Given the description of an element on the screen output the (x, y) to click on. 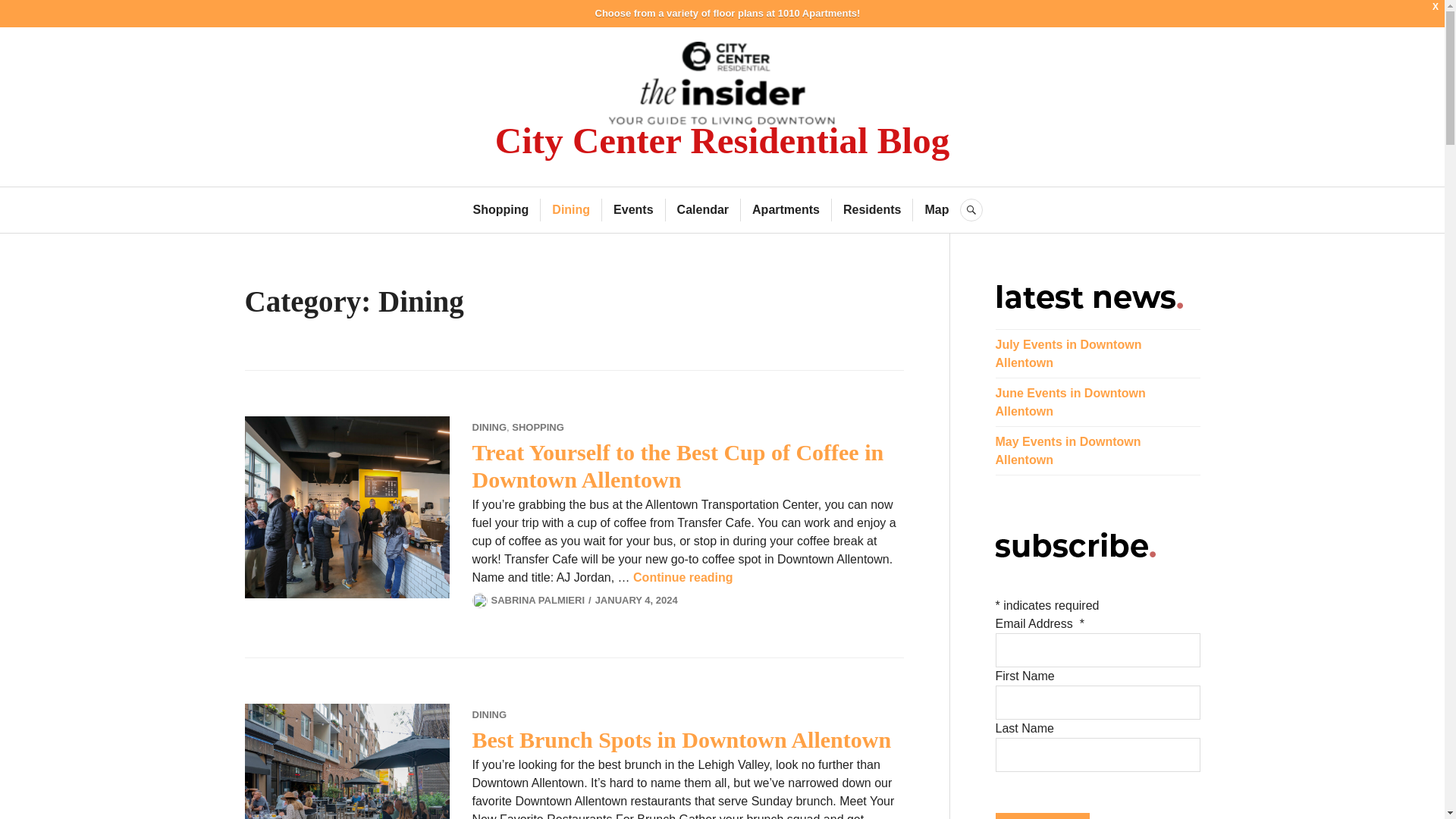
Subscribe (1041, 816)
Best Brunch Spots in Downtown Allentown (681, 739)
Dining (570, 210)
Events (632, 210)
SEARCH (970, 210)
SHOPPING (538, 427)
Map (936, 210)
SABRINA PALMIERI (538, 600)
Shopping (501, 210)
Residents (872, 210)
Apartments (785, 210)
DINING (488, 714)
JANUARY 4, 2024 (636, 600)
DINING (488, 427)
